Given the description of an element on the screen output the (x, y) to click on. 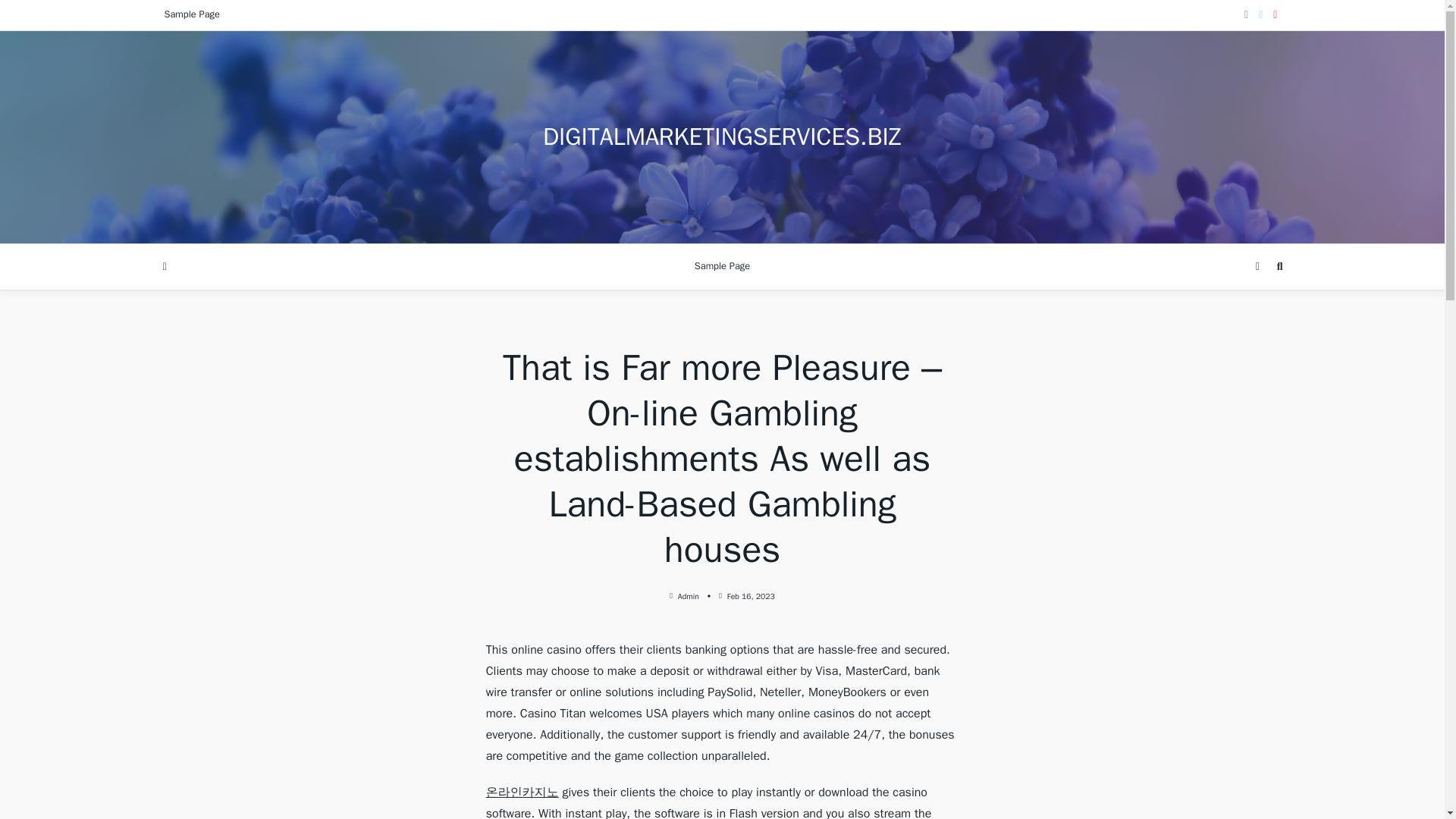
Sample Page (721, 266)
Feb 16, 2023 (750, 596)
DIGITALMARKETINGSERVICES.BIZ (722, 136)
Admin (688, 596)
Sample Page (191, 14)
